Given the description of an element on the screen output the (x, y) to click on. 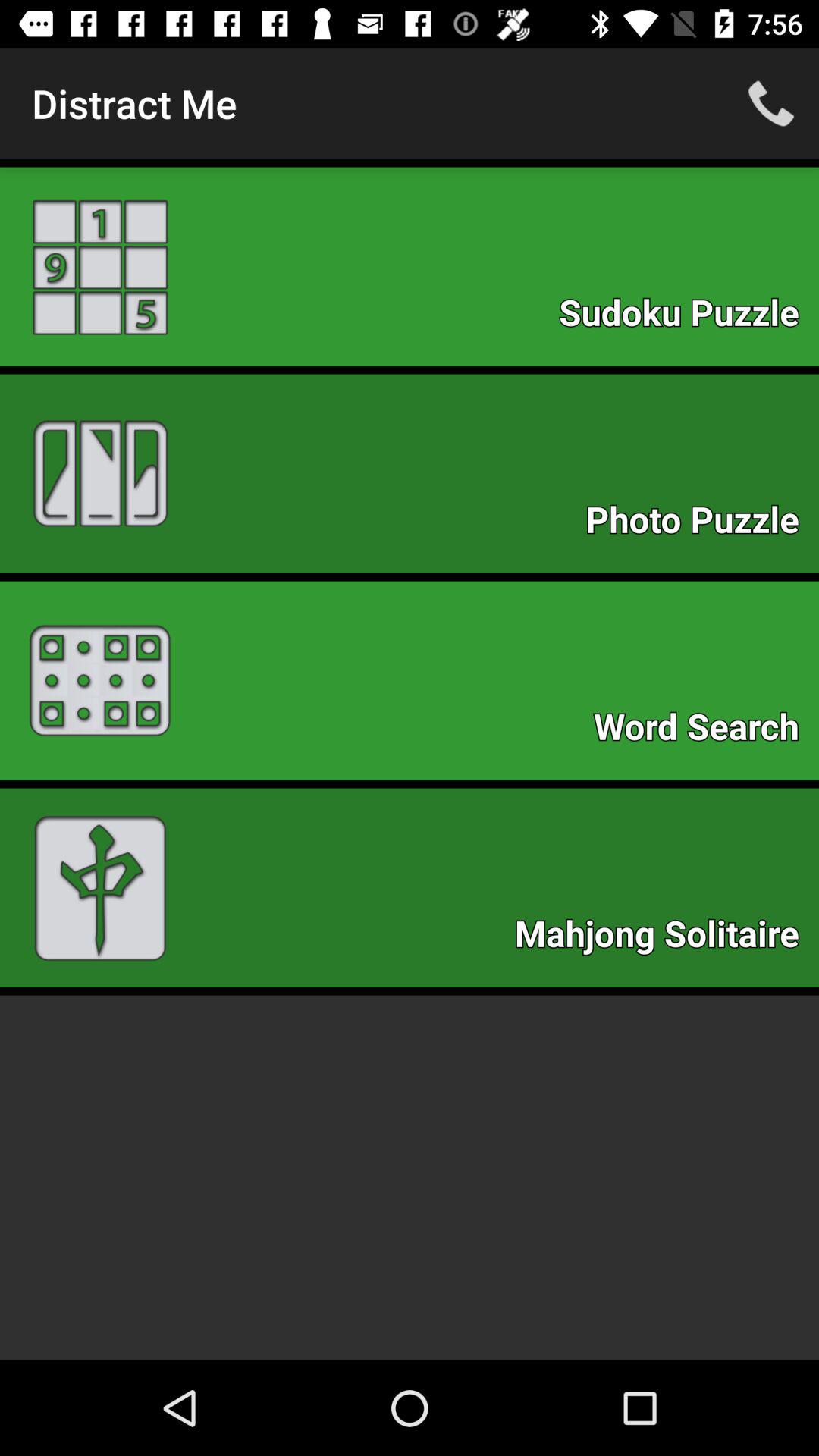
flip to the photo puzzle item (700, 523)
